Given the description of an element on the screen output the (x, y) to click on. 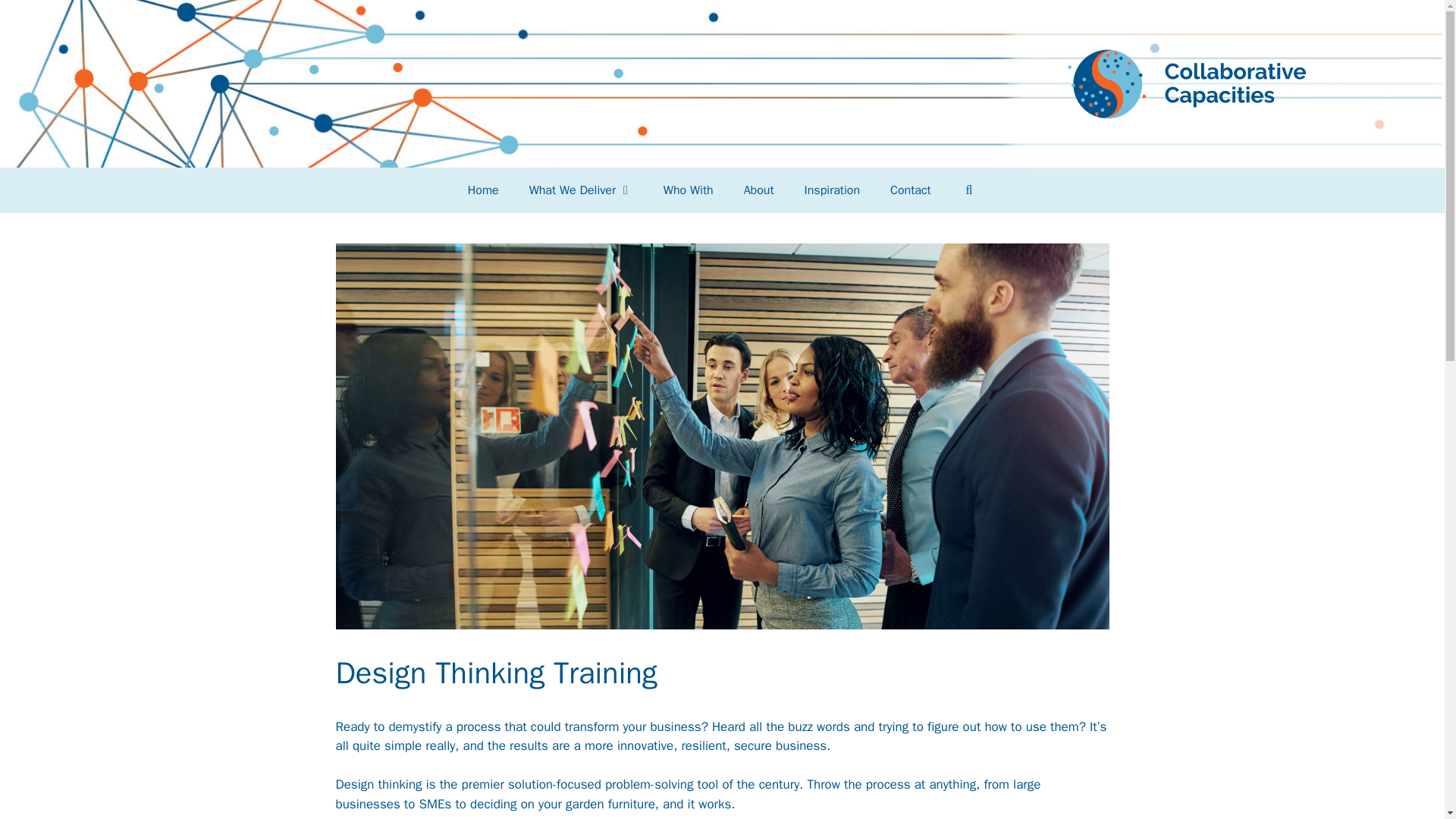
Who With (688, 189)
What We Deliver (580, 189)
Home (482, 189)
Contact (910, 189)
About (759, 189)
Inspiration (832, 189)
